Given the description of an element on the screen output the (x, y) to click on. 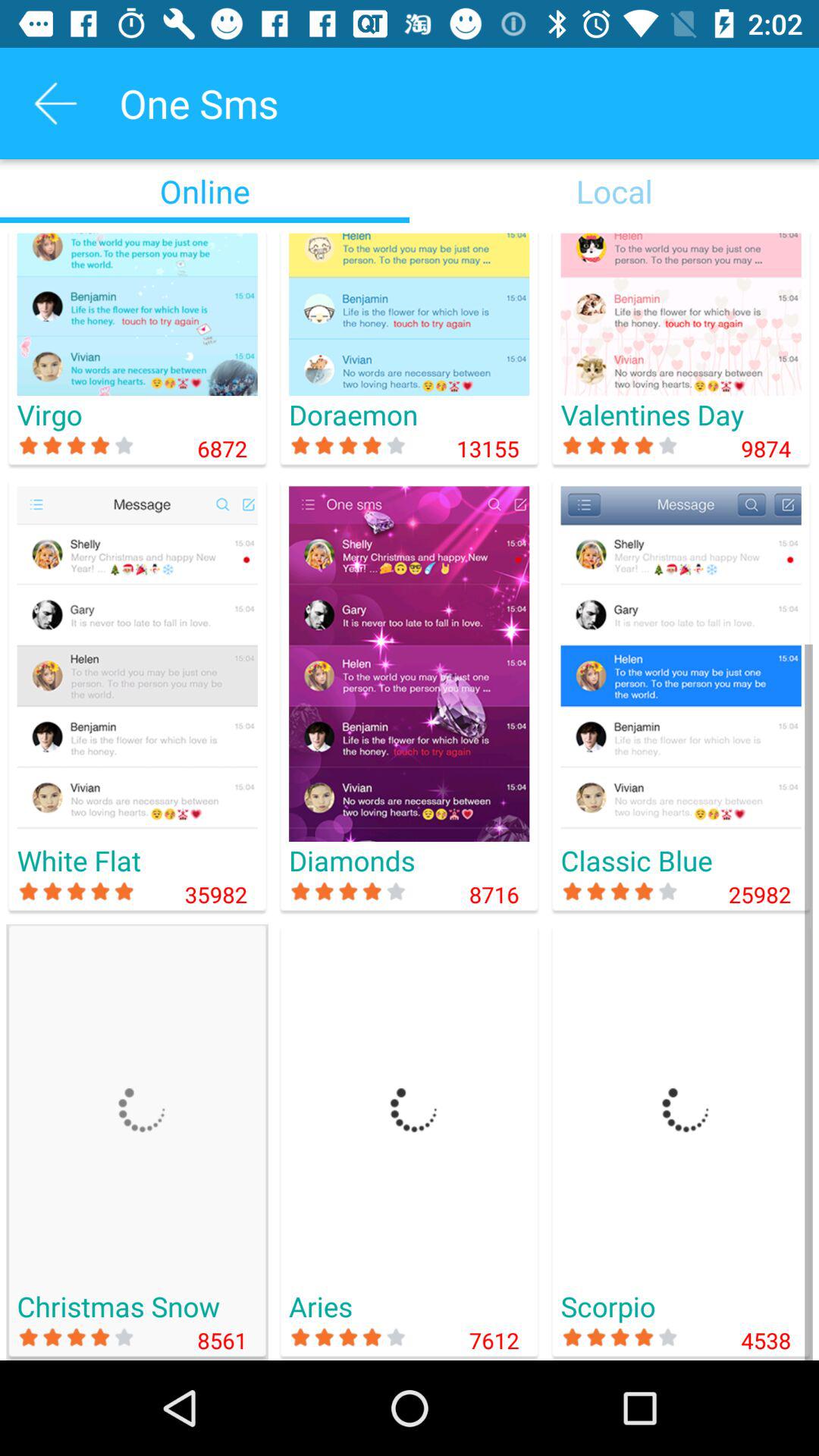
open item above the online item (55, 103)
